Given the description of an element on the screen output the (x, y) to click on. 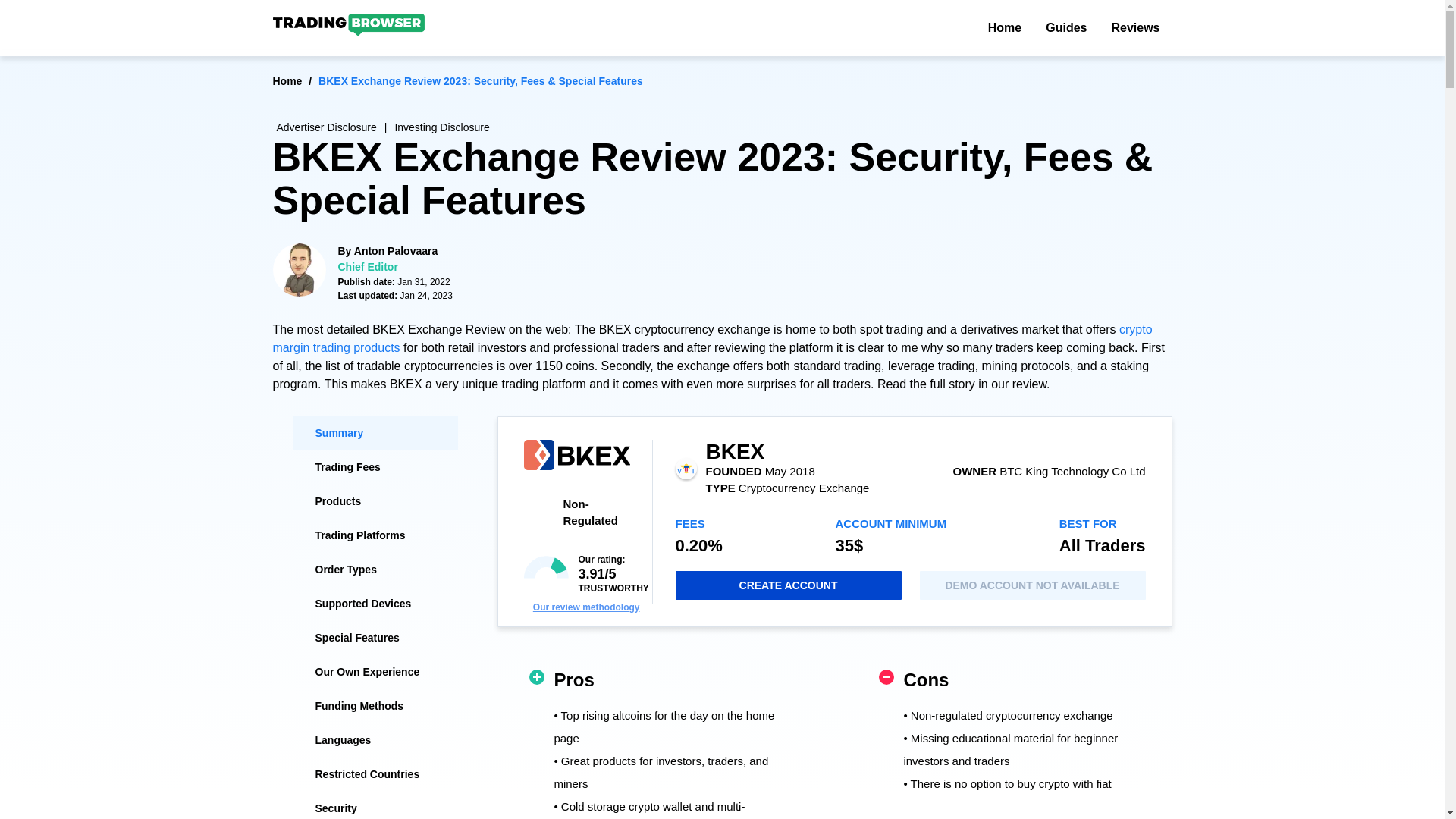
Order Types (375, 569)
Reviews (1135, 28)
Trading Platforms (375, 535)
Restricted Countries (375, 774)
crypto margin trading products (713, 337)
Security (375, 805)
Our Own Experience (375, 672)
Anton Palovaara (395, 250)
CREATE ACCOUNT (788, 584)
Trading Fees (375, 467)
Products (375, 501)
Home (1004, 28)
DEMO ACCOUNT NOT AVAILABLE (1031, 584)
Our review methodology (586, 606)
Special Features (375, 637)
